Given the description of an element on the screen output the (x, y) to click on. 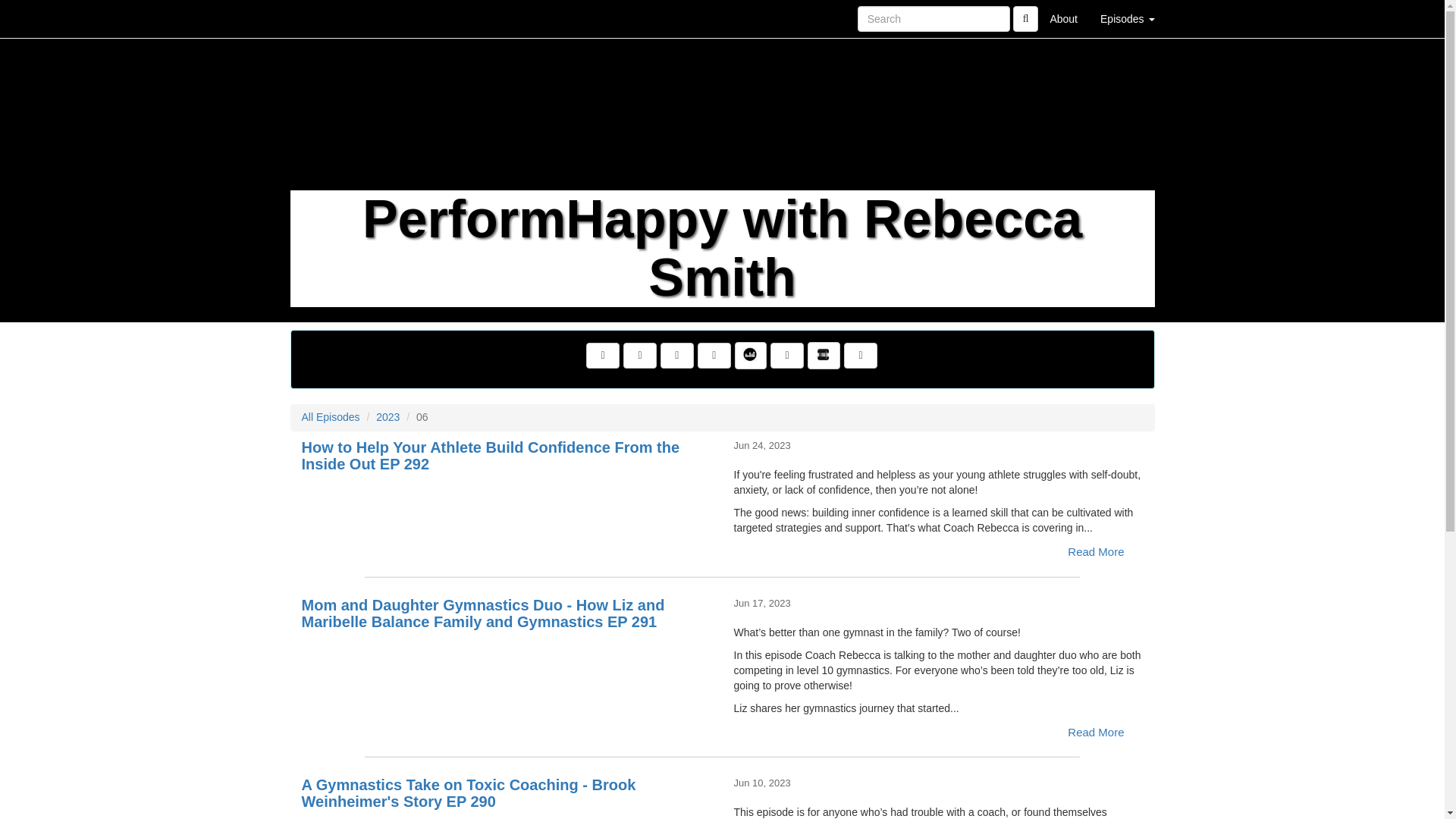
Email This Podcast (677, 355)
Listen on Deezer (751, 355)
Listen on Apple Podcasts (786, 355)
Episodes (1127, 18)
Listen on Stitcher (824, 355)
Visit Us on Twitter (639, 355)
Visit Us on Facebook (603, 355)
Home Page (320, 18)
Subscribe to RSS Feed (713, 355)
